Given the description of an element on the screen output the (x, y) to click on. 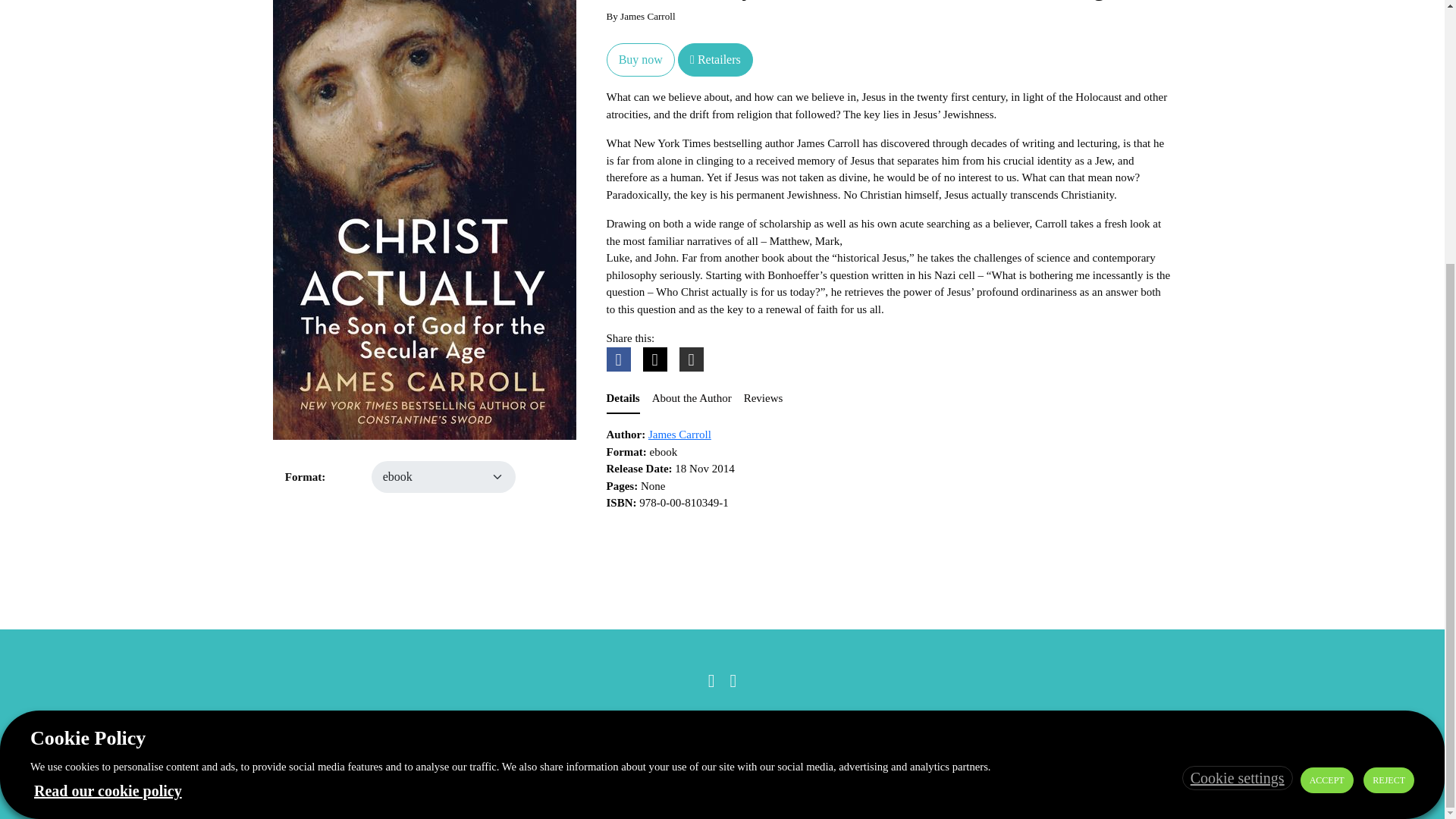
James Carroll (679, 434)
About the Author (692, 399)
Reviews (763, 399)
Retailers (715, 59)
Details (623, 399)
Buy now (641, 59)
